Given the description of an element on the screen output the (x, y) to click on. 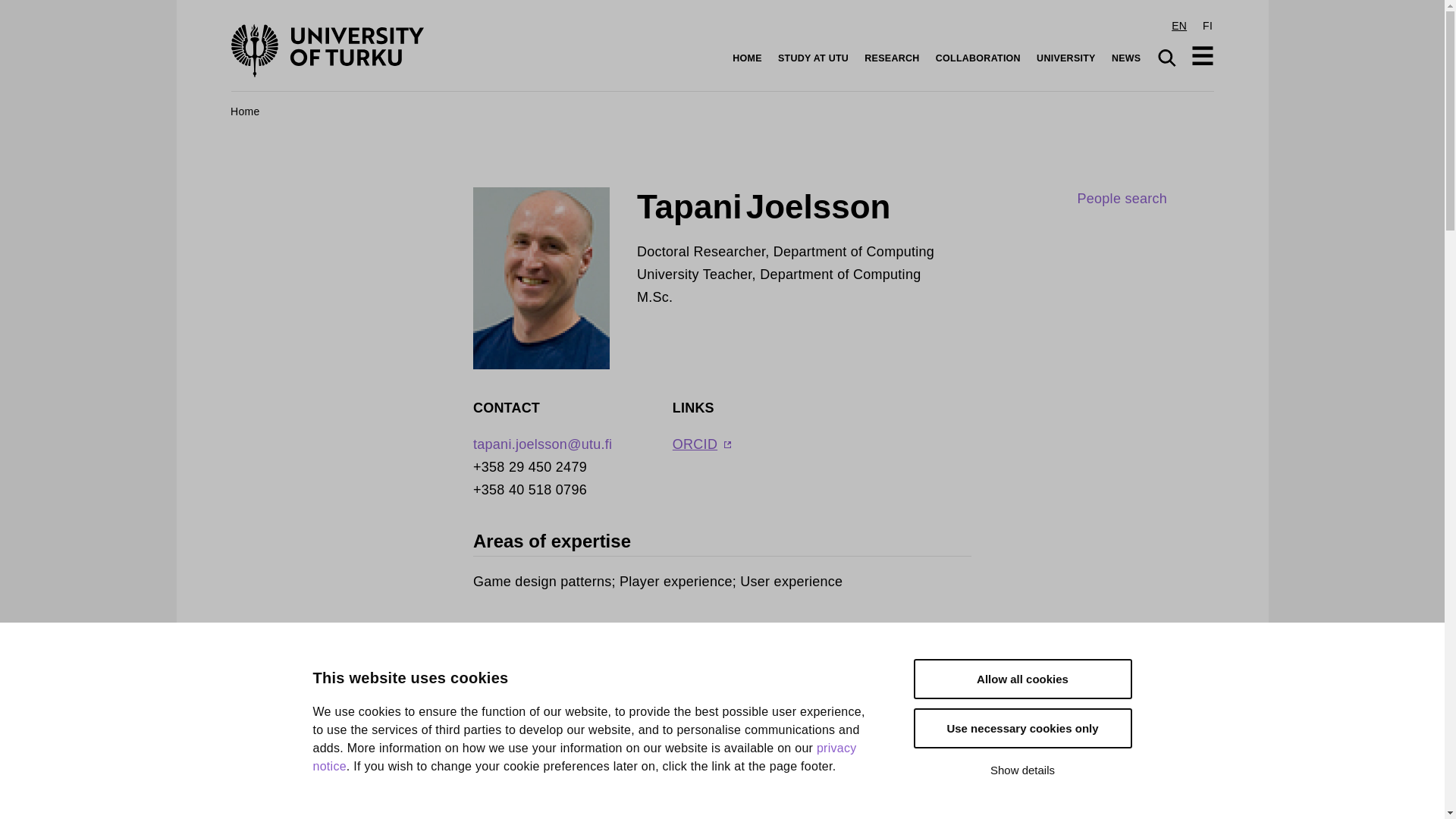
Show details (1021, 769)
Use necessary cookies only (1021, 730)
privacy notice (584, 808)
Allow all cookies (1021, 703)
